Given the description of an element on the screen output the (x, y) to click on. 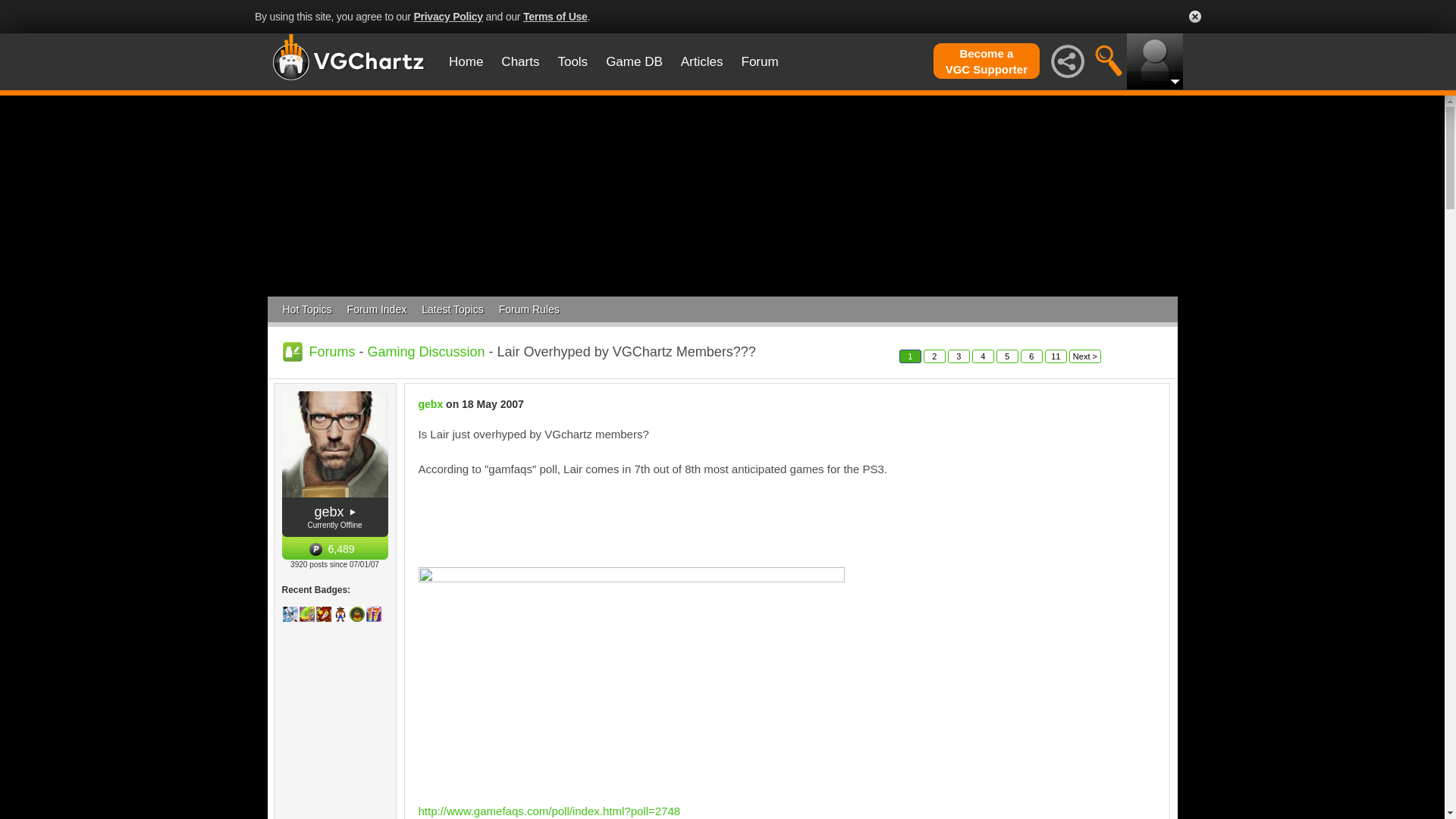
Privacy Policy (984, 356)
Game DB (447, 16)
Home (633, 61)
Terms of Use (465, 61)
Charts (555, 16)
Social Media (520, 61)
Close (1067, 61)
